Given the description of an element on the screen output the (x, y) to click on. 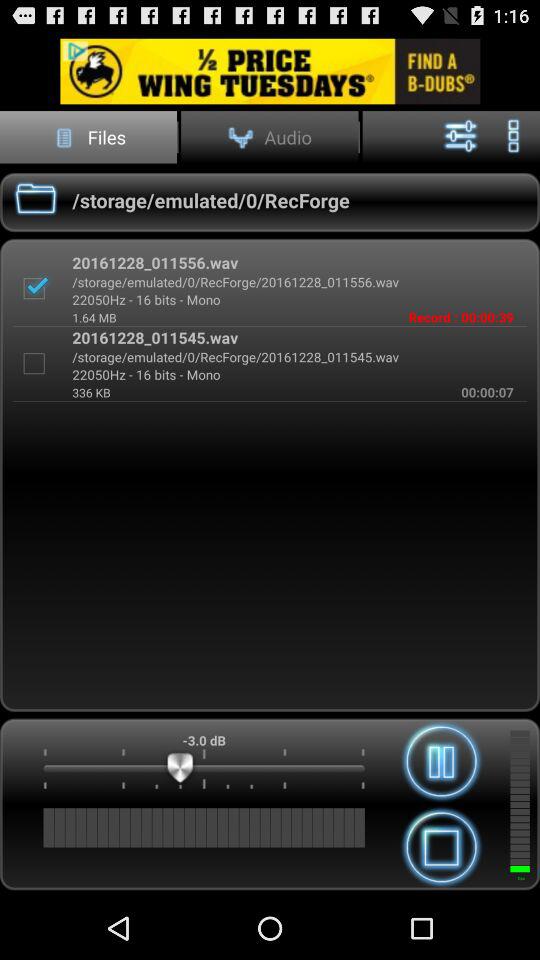
advertisement area (270, 70)
